Given the description of an element on the screen output the (x, y) to click on. 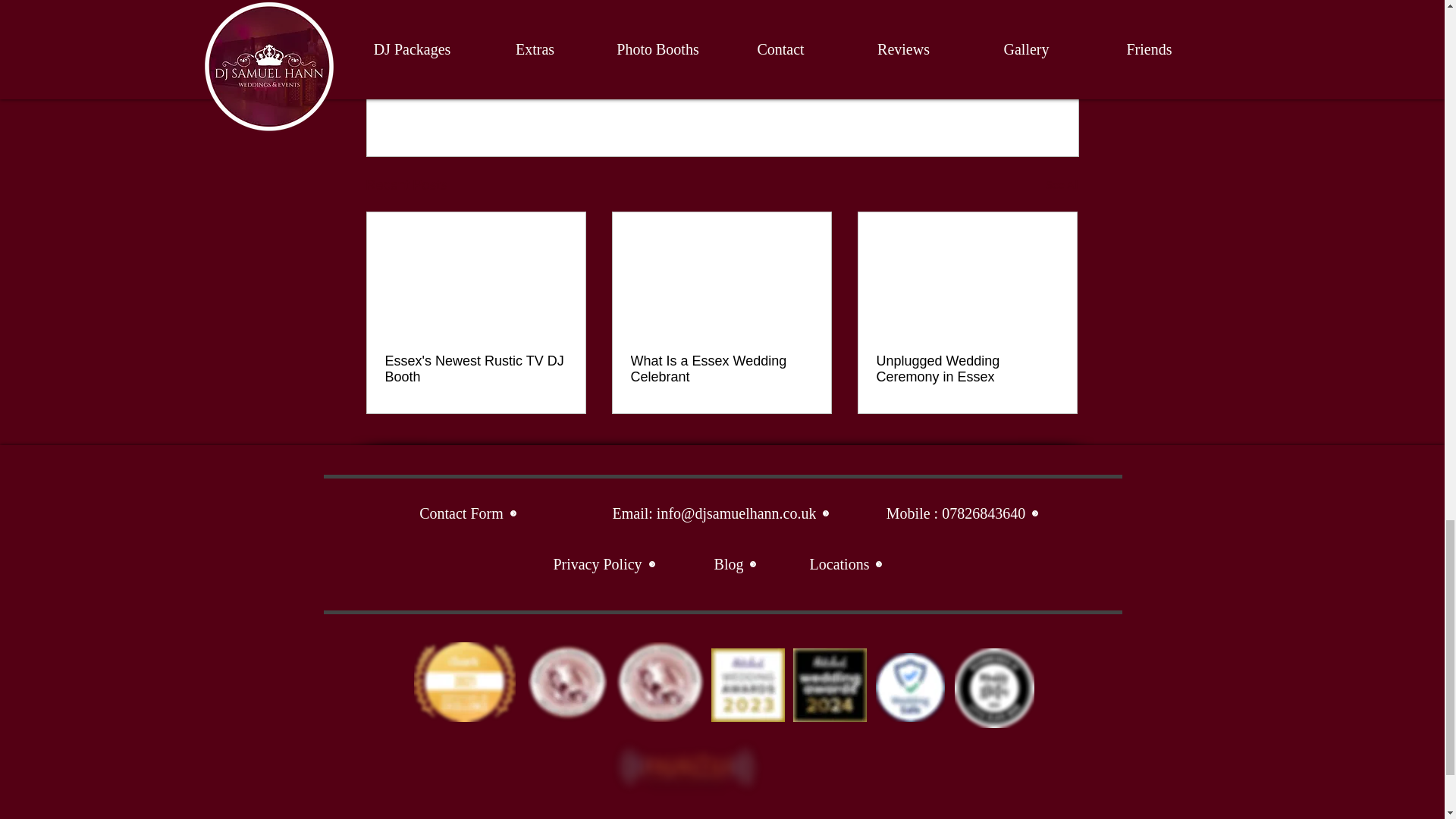
Mobile : 07826843640 (962, 513)
What Is a Essex Wedding Celebrant (721, 368)
2023-Local-Rounds-winner.png (659, 681)
Essex's Newest Rustic TV DJ Booth (476, 368)
Blog (734, 564)
Unplugged Wedding Ceremony in Essex (967, 368)
2023-Local-Rounds-winner.png (464, 681)
2023-Local-Rounds-winner.png (567, 681)
2023-Local-Rounds-winner.png (829, 684)
2023-Local-Rounds-winner.png (747, 684)
weddng safe (909, 686)
Contact Form (468, 513)
Privacy Policy (604, 564)
Locations (846, 564)
See All (1061, 185)
